Given the description of an element on the screen output the (x, y) to click on. 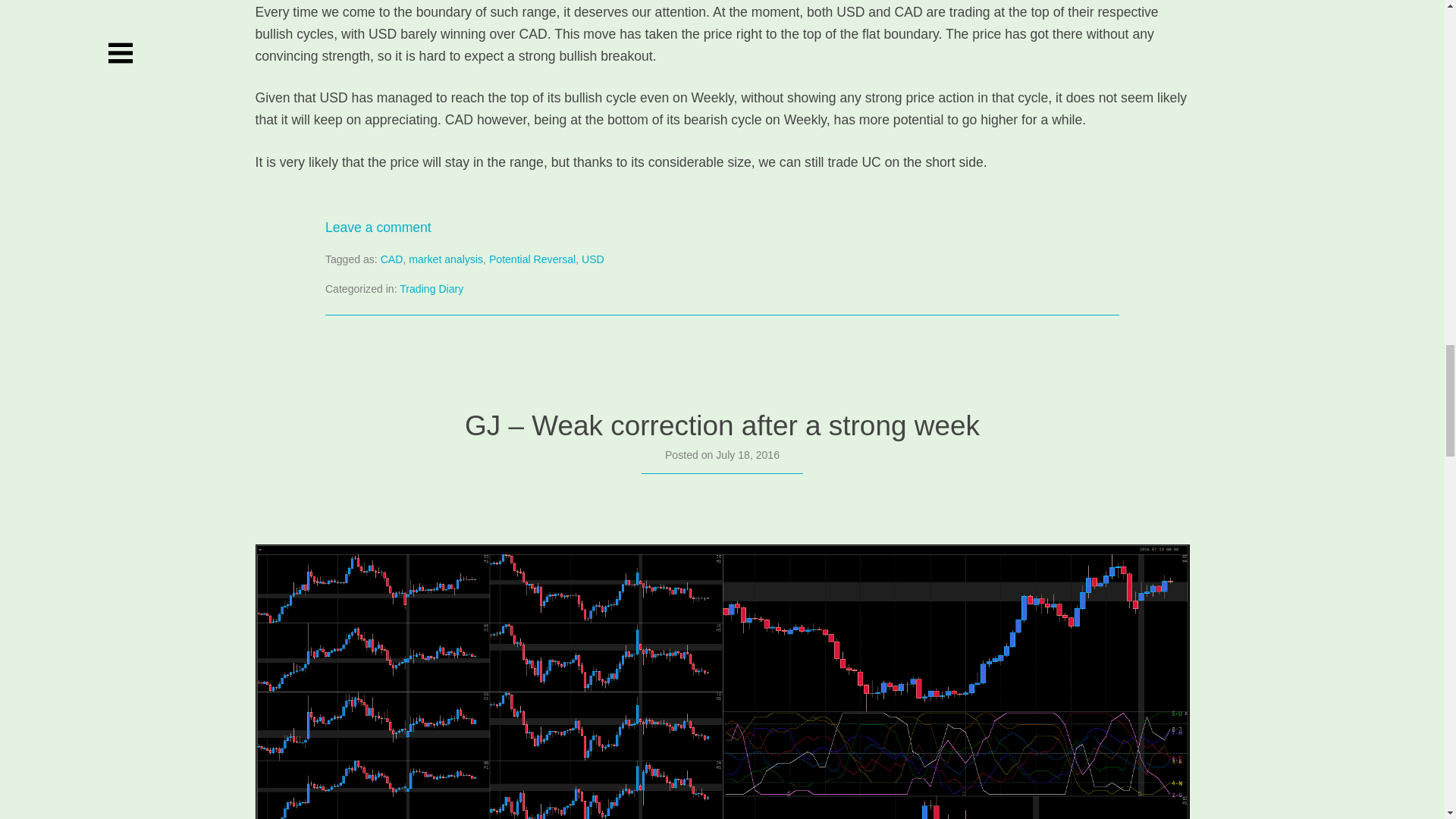
USD (592, 259)
July 18, 2016 (747, 454)
CAD (391, 259)
Trading Diary (430, 287)
Leave a comment (377, 227)
Potential Reversal (532, 259)
market analysis (446, 259)
